Given the description of an element on the screen output the (x, y) to click on. 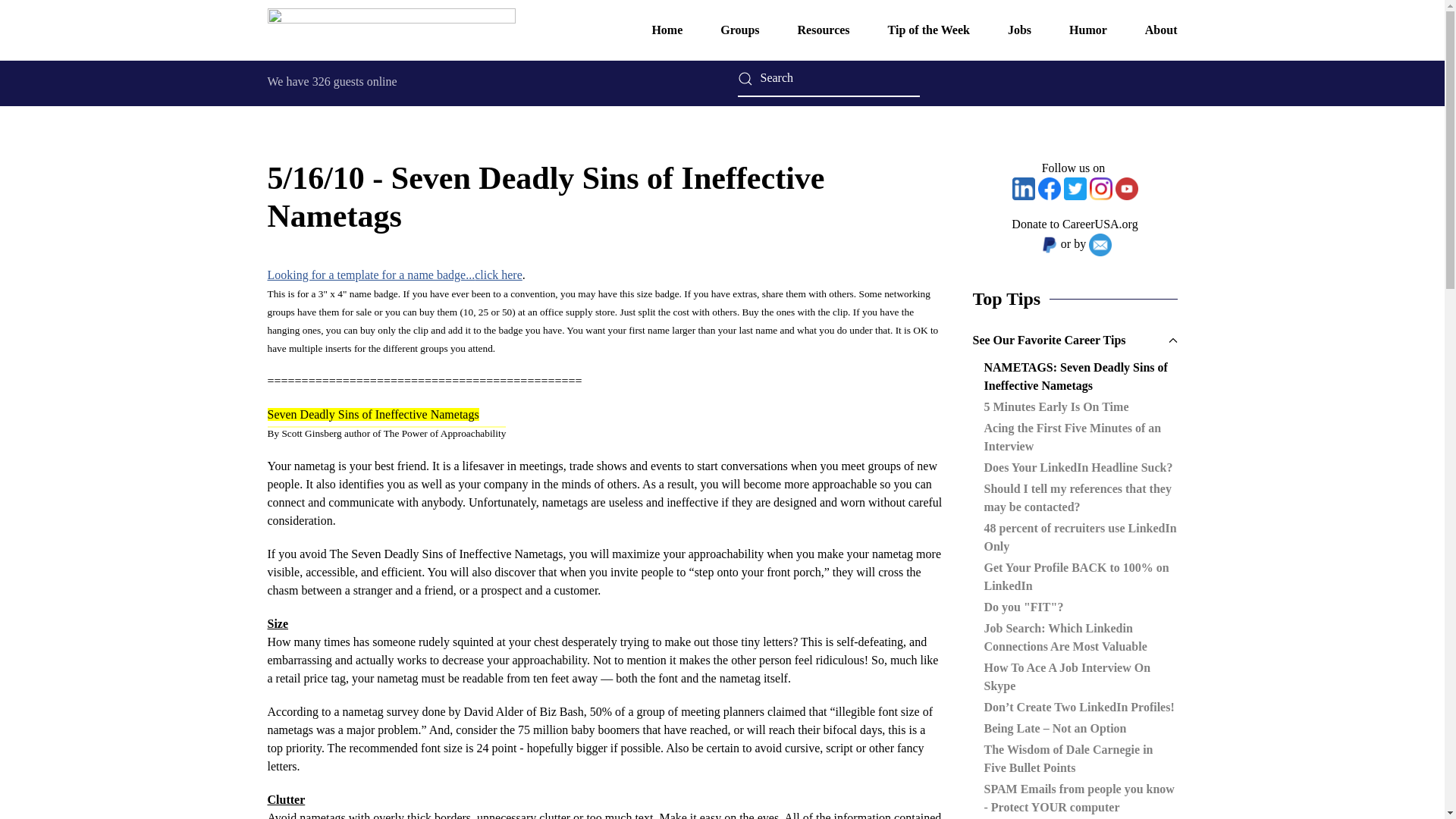
Tip of the Week (928, 30)
